Given the description of an element on the screen output the (x, y) to click on. 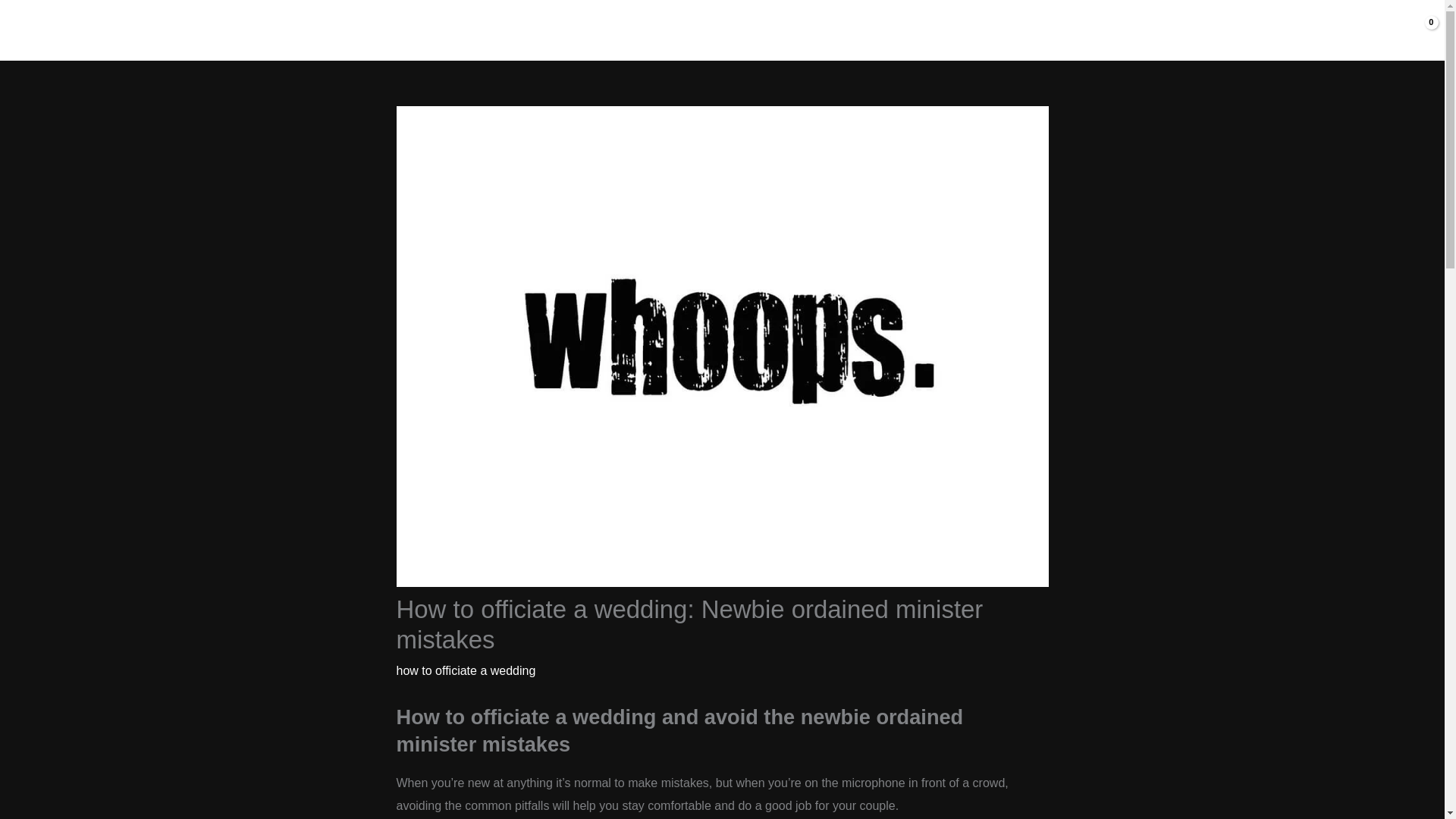
Shop (1247, 30)
how to officiate a wedding (465, 670)
Matt's Wedding Ceremonies (180, 29)
Contact (1361, 30)
Home (1128, 30)
About (1188, 30)
